Given the description of an element on the screen output the (x, y) to click on. 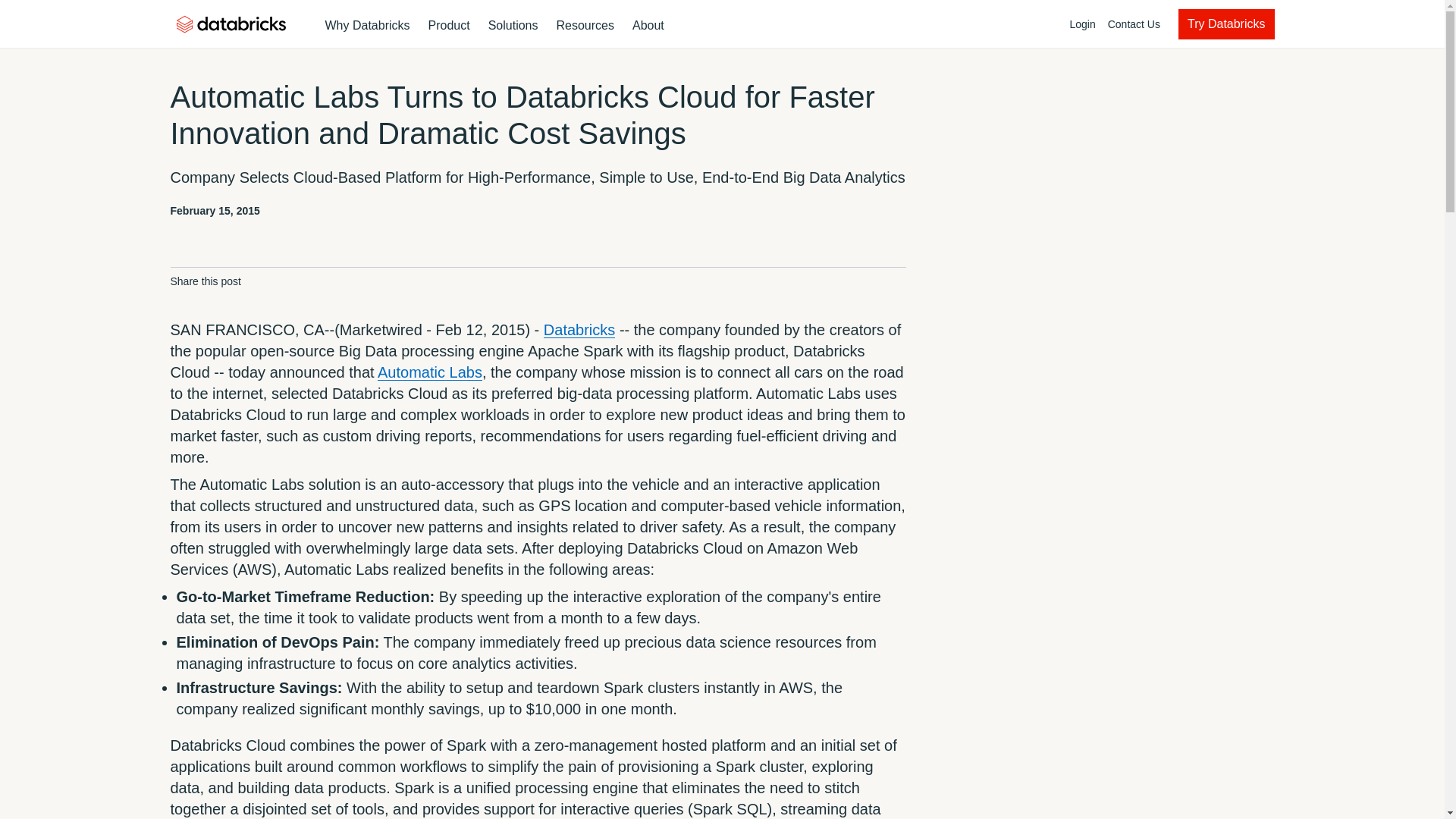
Solutions (680, 23)
Why Databricks (513, 25)
Product (367, 25)
